Given the description of an element on the screen output the (x, y) to click on. 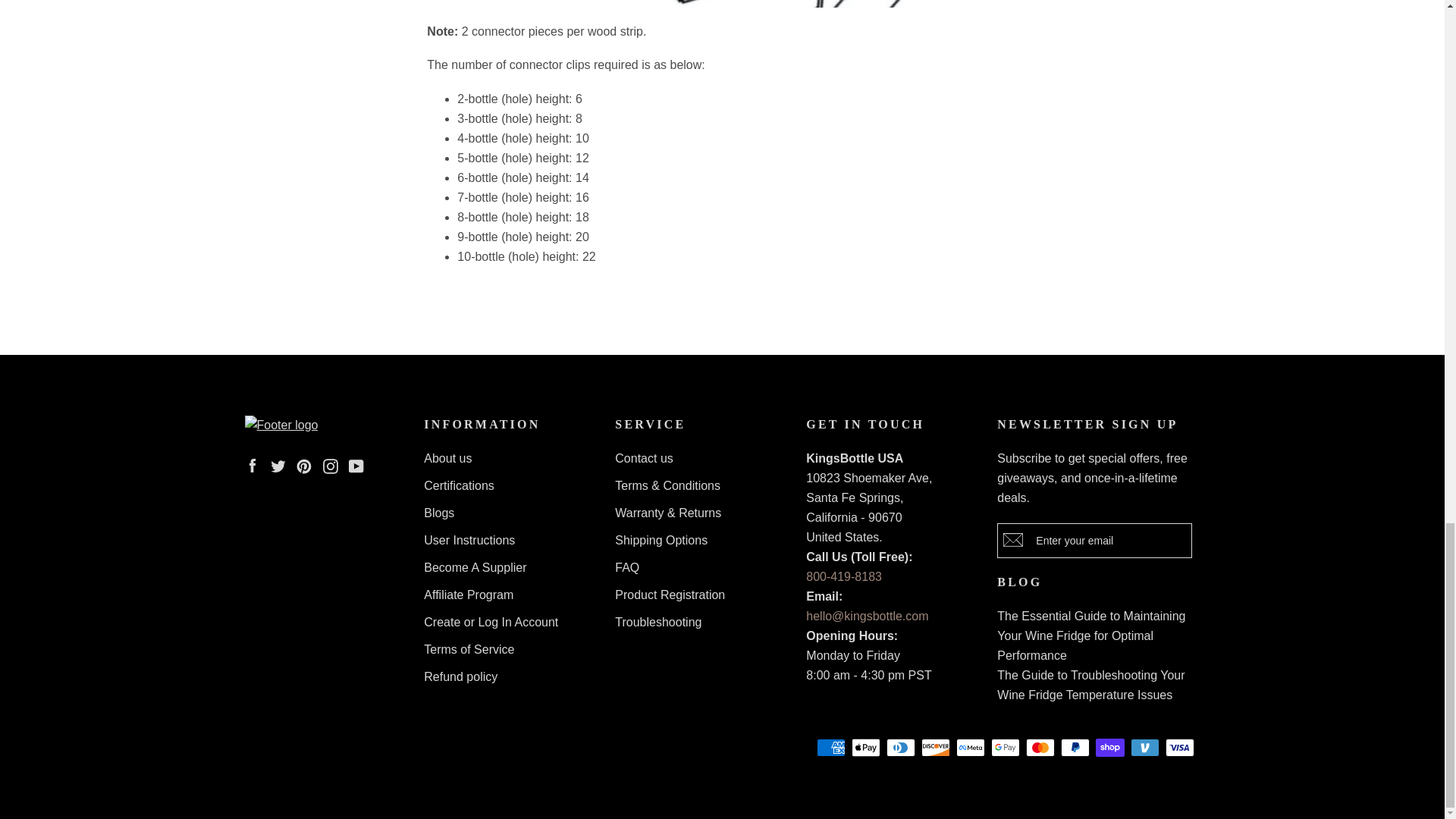
KingsBottle.com on YouTube (356, 464)
KingsBottle.com on Instagram (330, 464)
Discover (934, 747)
Diners Club (899, 747)
tel:800-419-8183 (844, 576)
Shop Pay (1109, 747)
Meta Pay (969, 747)
KingsBottle.com on Pinterest (304, 464)
Apple Pay (864, 747)
Mastercard (1039, 747)
